Given the description of an element on the screen output the (x, y) to click on. 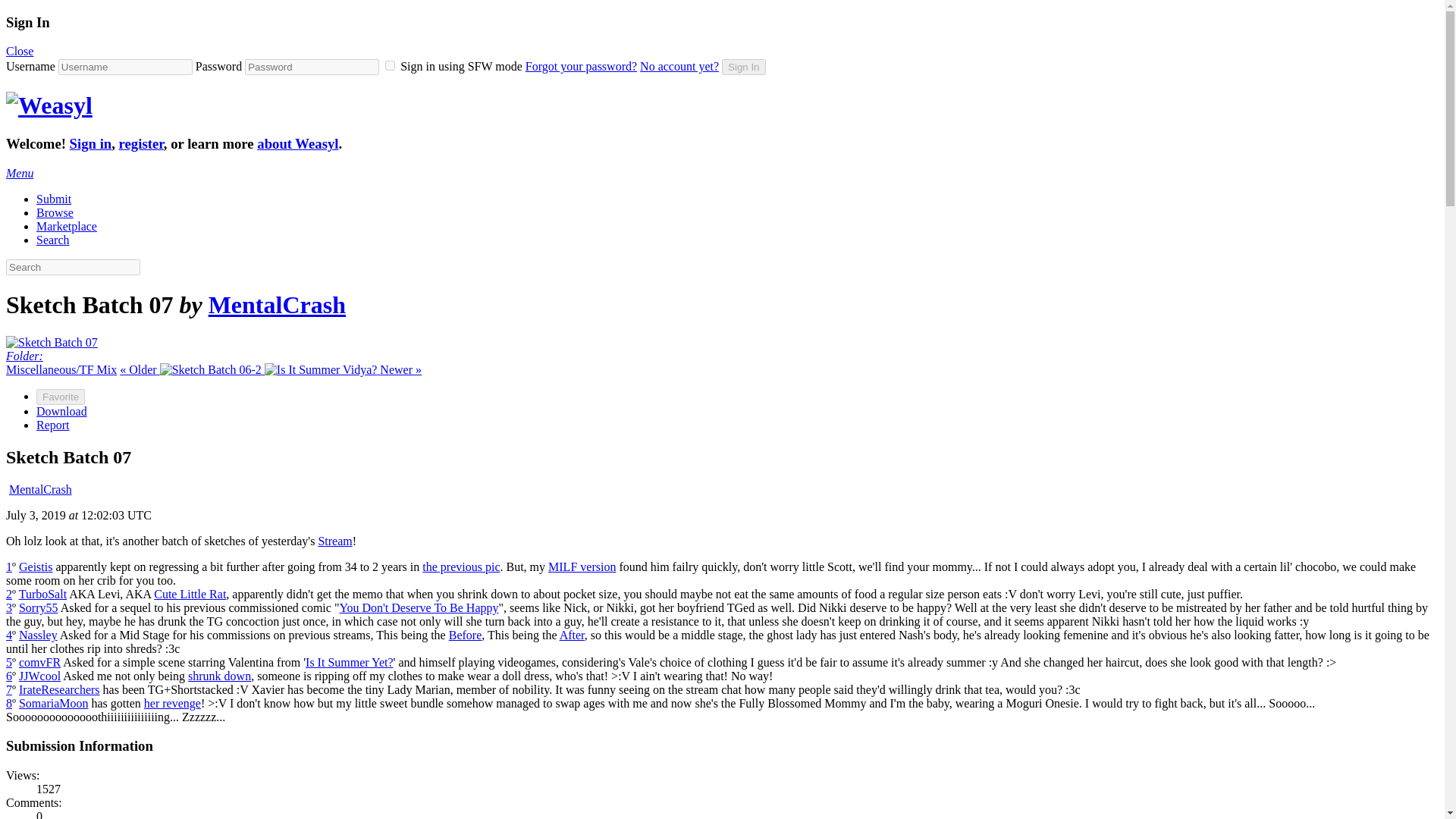
Menu (19, 173)
Nassley (38, 634)
Forgot your password? (581, 65)
Sorry55 (38, 607)
Sign in (90, 143)
No account yet? (679, 65)
Marketplace (66, 226)
MentalCrash (39, 489)
Geistis (35, 566)
about Weasyl (297, 143)
Download (61, 410)
Close (19, 51)
register (141, 143)
Report (52, 424)
Search (52, 239)
